Given the description of an element on the screen output the (x, y) to click on. 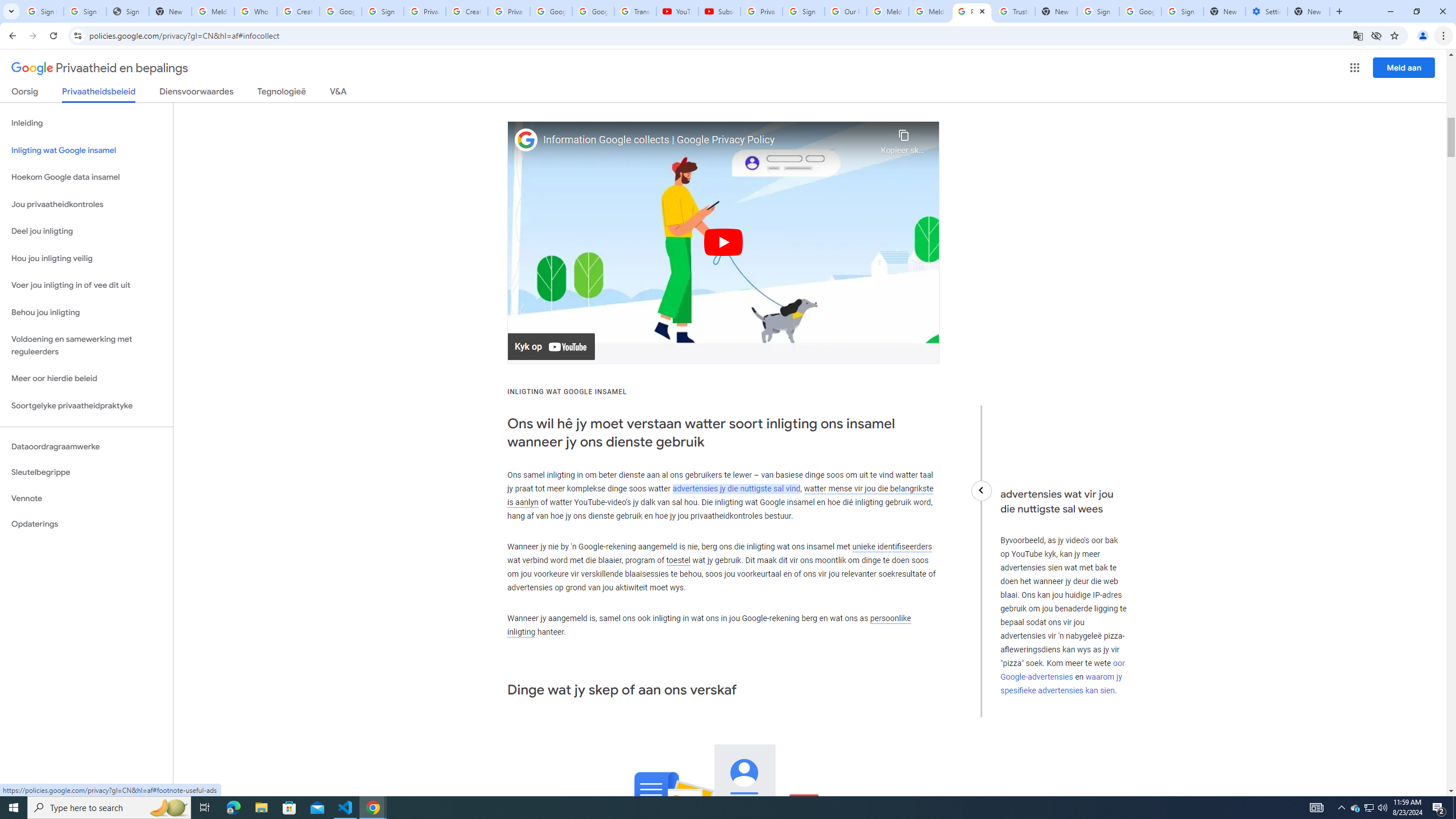
Sign In - USA TODAY (127, 11)
Sign in - Google Accounts (1182, 11)
Translate this page (1358, 35)
Meld aan (1404, 67)
Google Account (592, 11)
Create your Google Account (298, 11)
Kopieer skakel (903, 139)
Dataoordragraamwerke (86, 446)
toestel (678, 560)
